Given the description of an element on the screen output the (x, y) to click on. 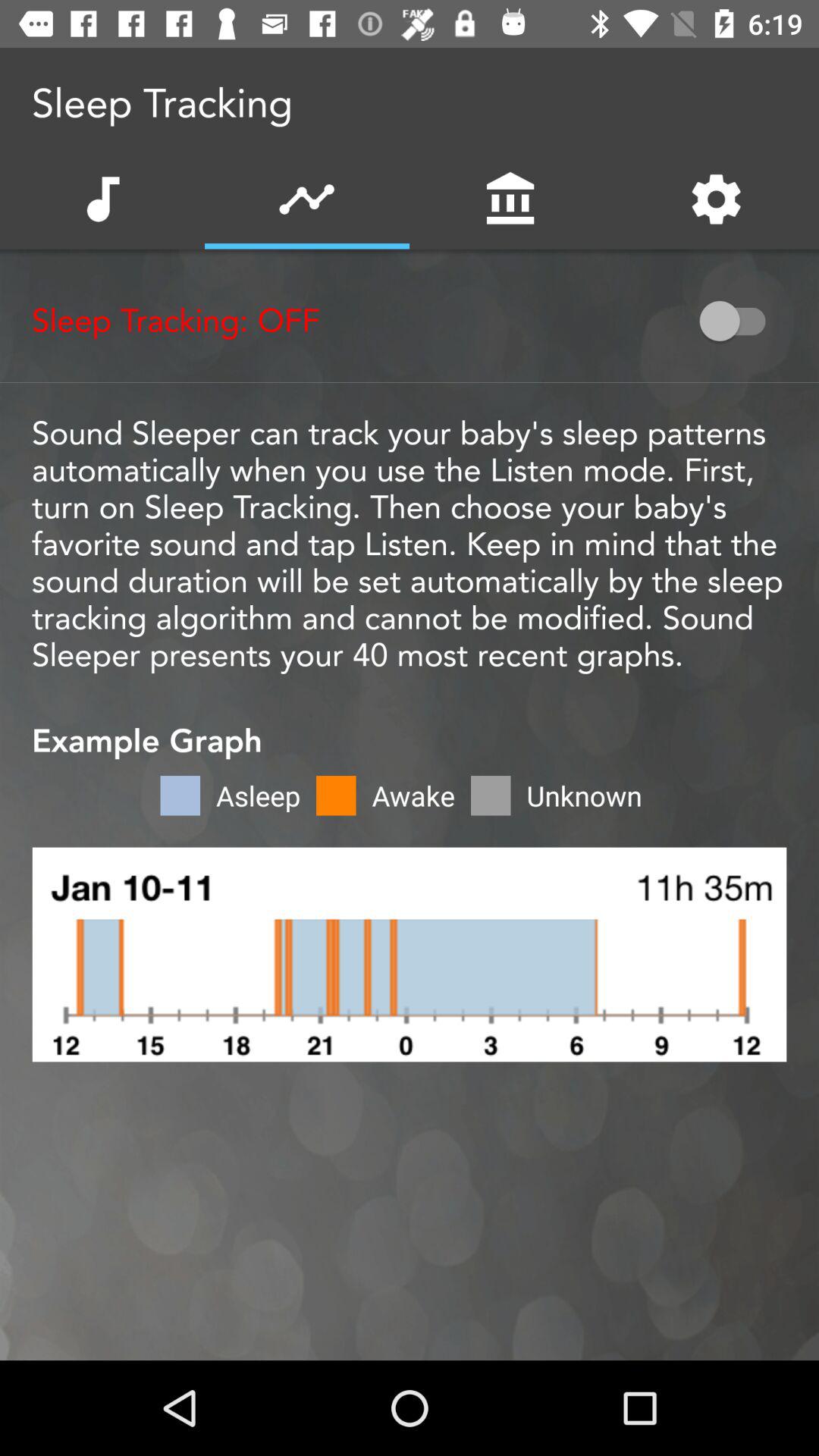
select the check boxl eft to awake (336, 795)
select the light gray color box beside awake option (490, 795)
click on onoff icon (739, 320)
click on the music symbol (101, 199)
